Given the description of an element on the screen output the (x, y) to click on. 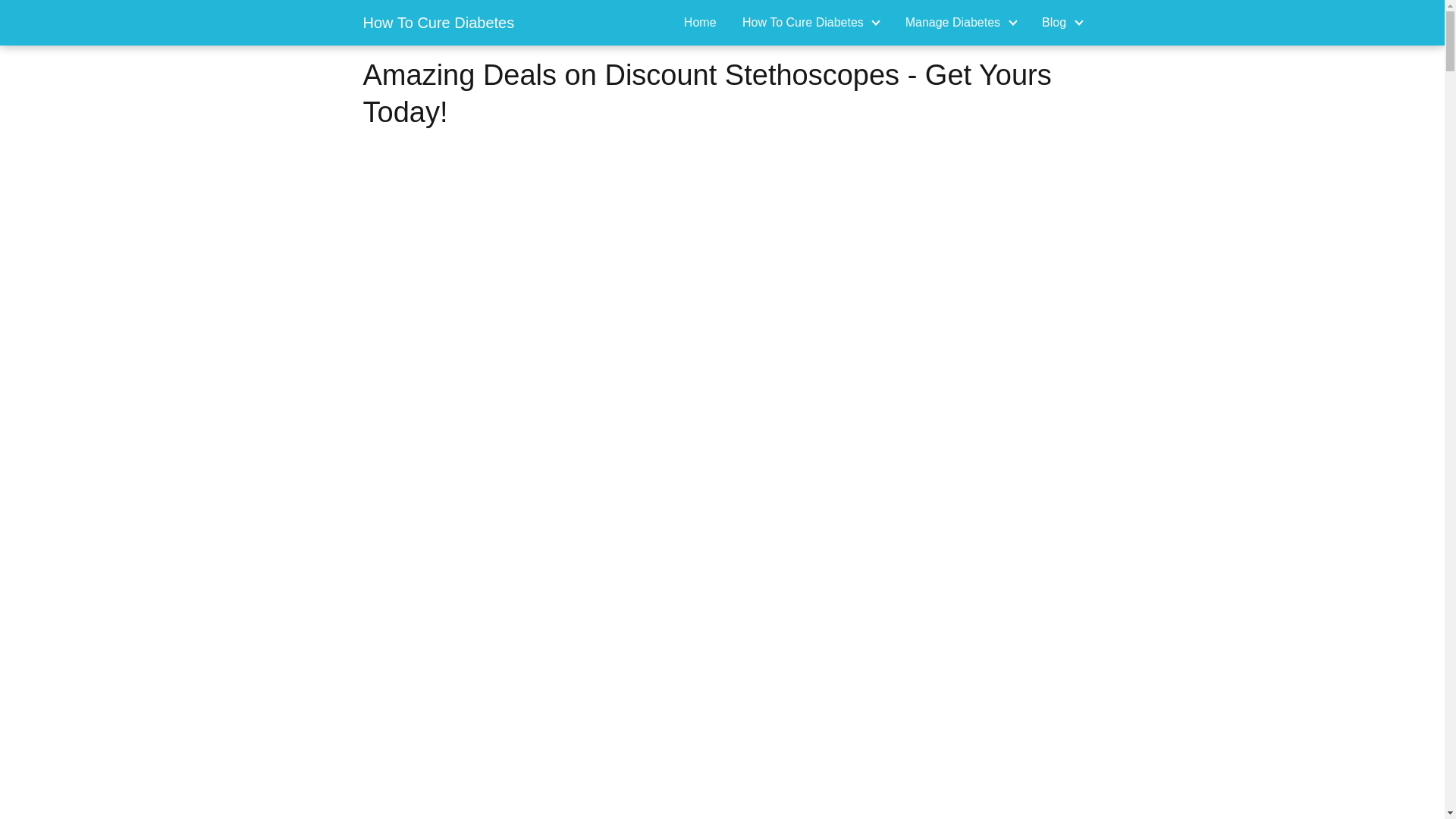
How To Cure Diabetes (437, 22)
Blog (1056, 21)
How To Cure Diabetes (805, 21)
Home (700, 21)
Manage Diabetes (955, 21)
